Given the description of an element on the screen output the (x, y) to click on. 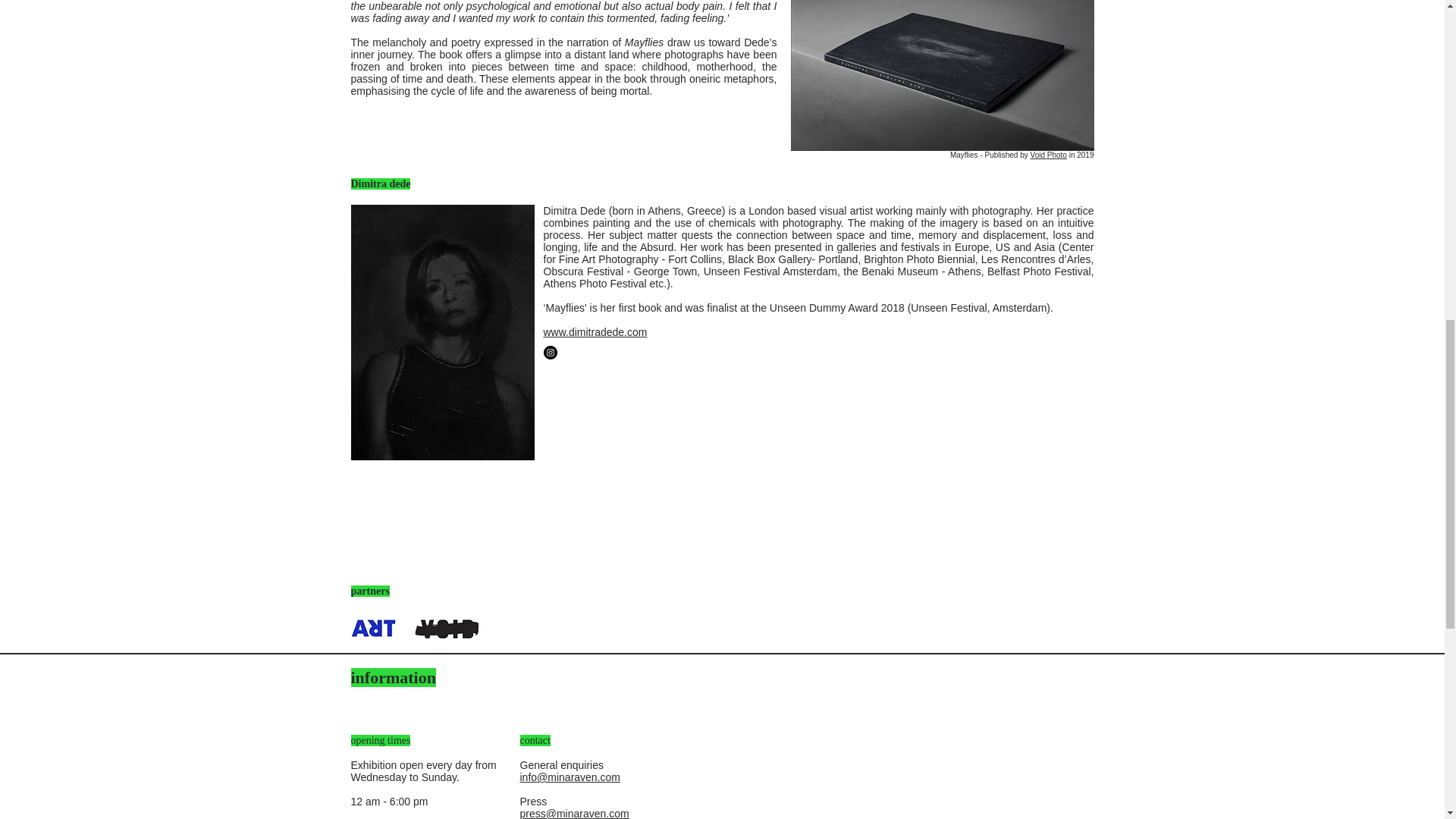
www.dimitradede.com (594, 331)
Void Photo (1048, 154)
